Given the description of an element on the screen output the (x, y) to click on. 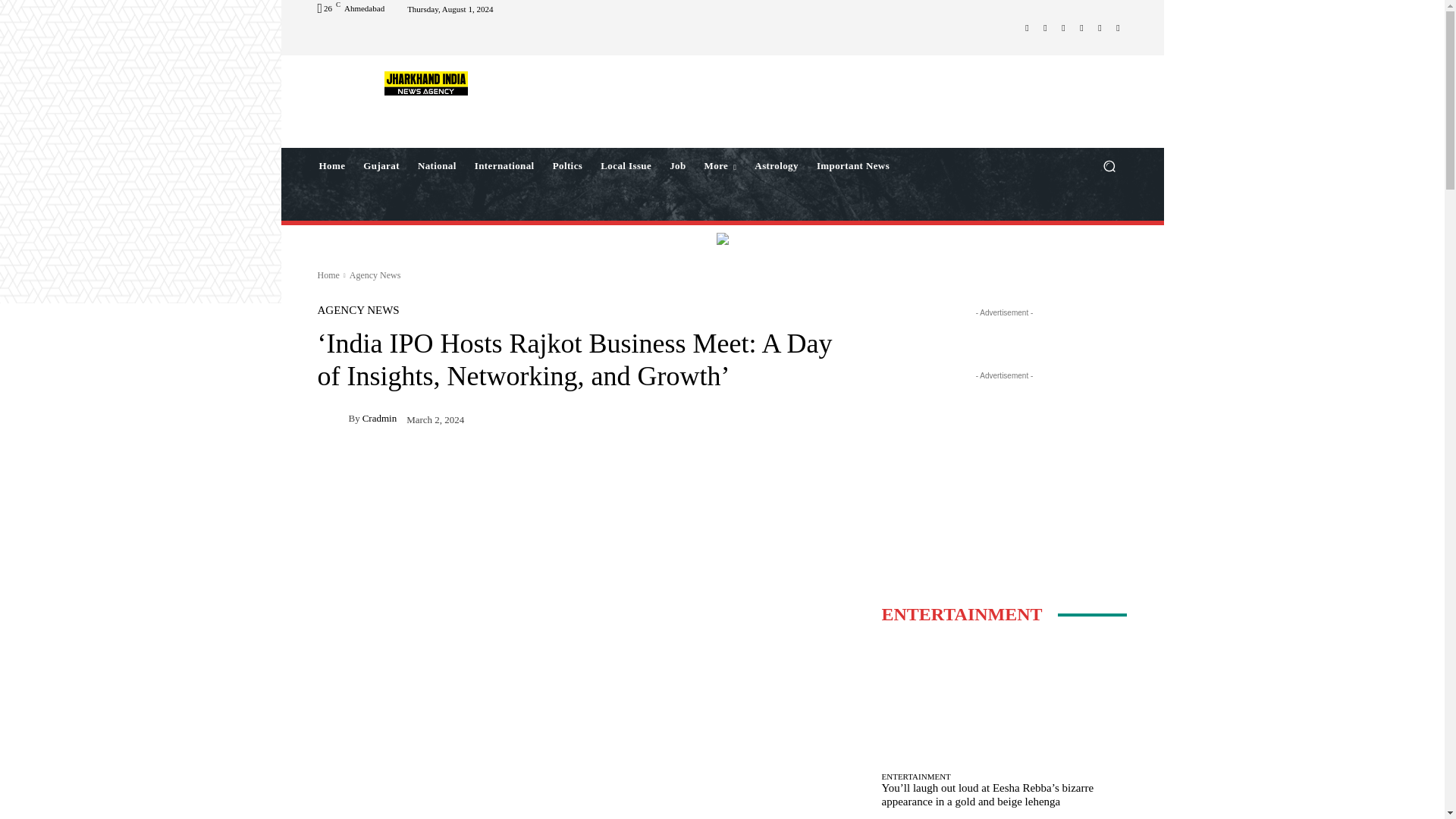
Instagram (1044, 27)
WhatsApp (1099, 27)
Mail (1062, 27)
Twitter (1080, 27)
Youtube (1117, 27)
Facebook (1026, 27)
